Given the description of an element on the screen output the (x, y) to click on. 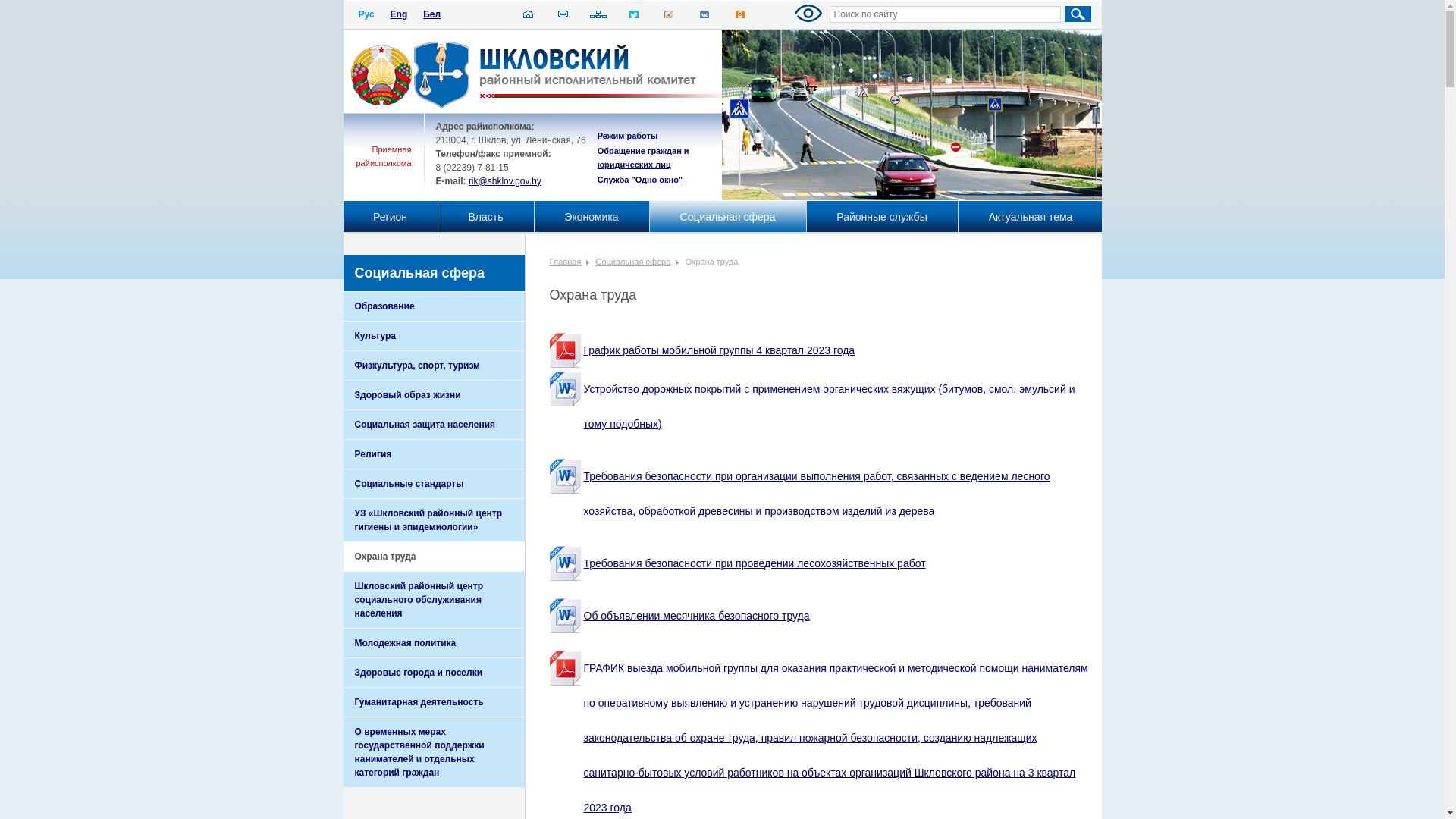
Eng Element type: text (398, 14)
https://ok.ru Element type: hover (739, 17)
instagram Element type: hover (668, 17)
twitter Element type: hover (633, 17)
rik@shklov.gov.by Element type: text (504, 180)
VK  Element type: hover (704, 17)
